Given the description of an element on the screen output the (x, y) to click on. 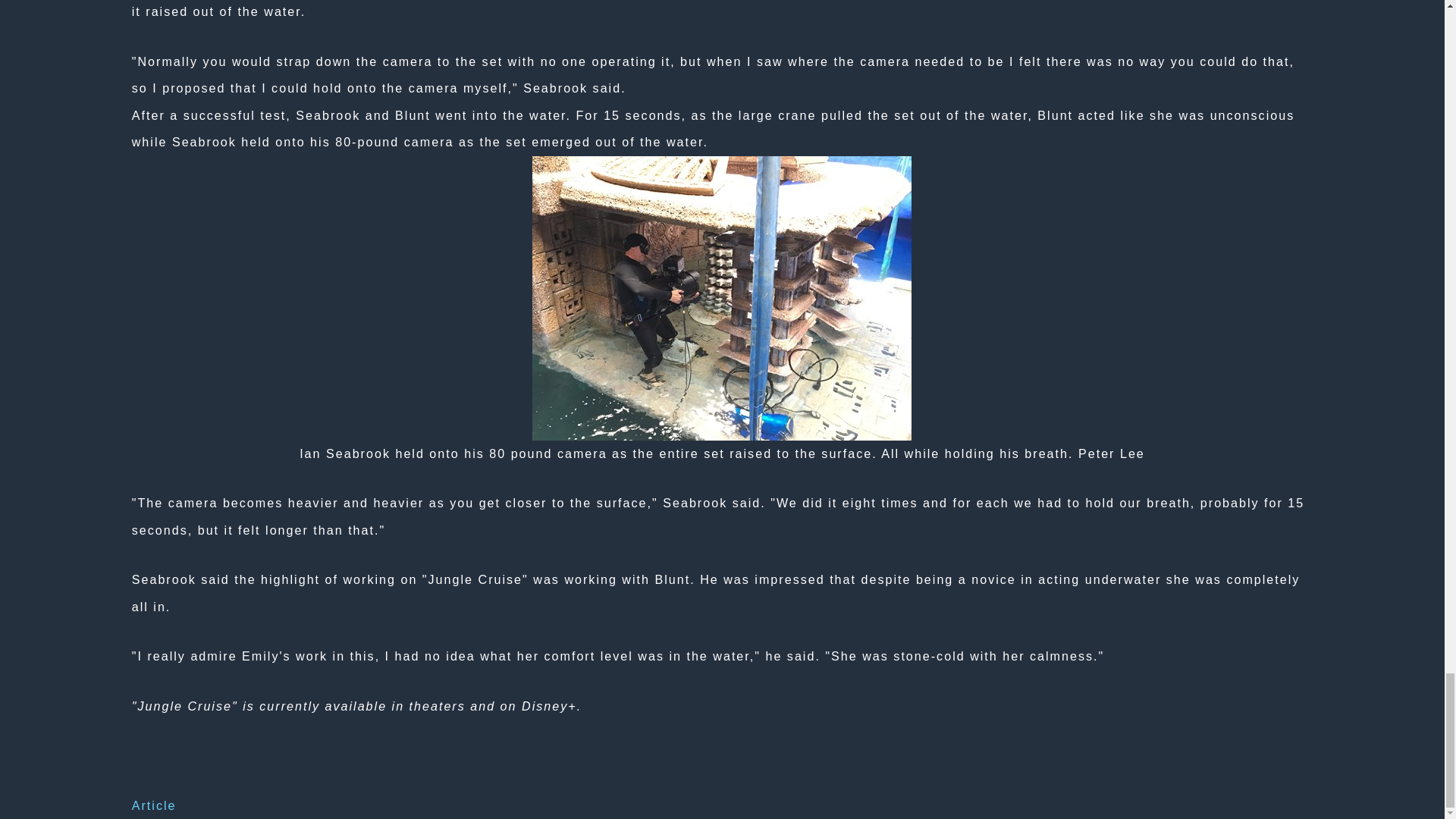
Article (154, 805)
